Given the description of an element on the screen output the (x, y) to click on. 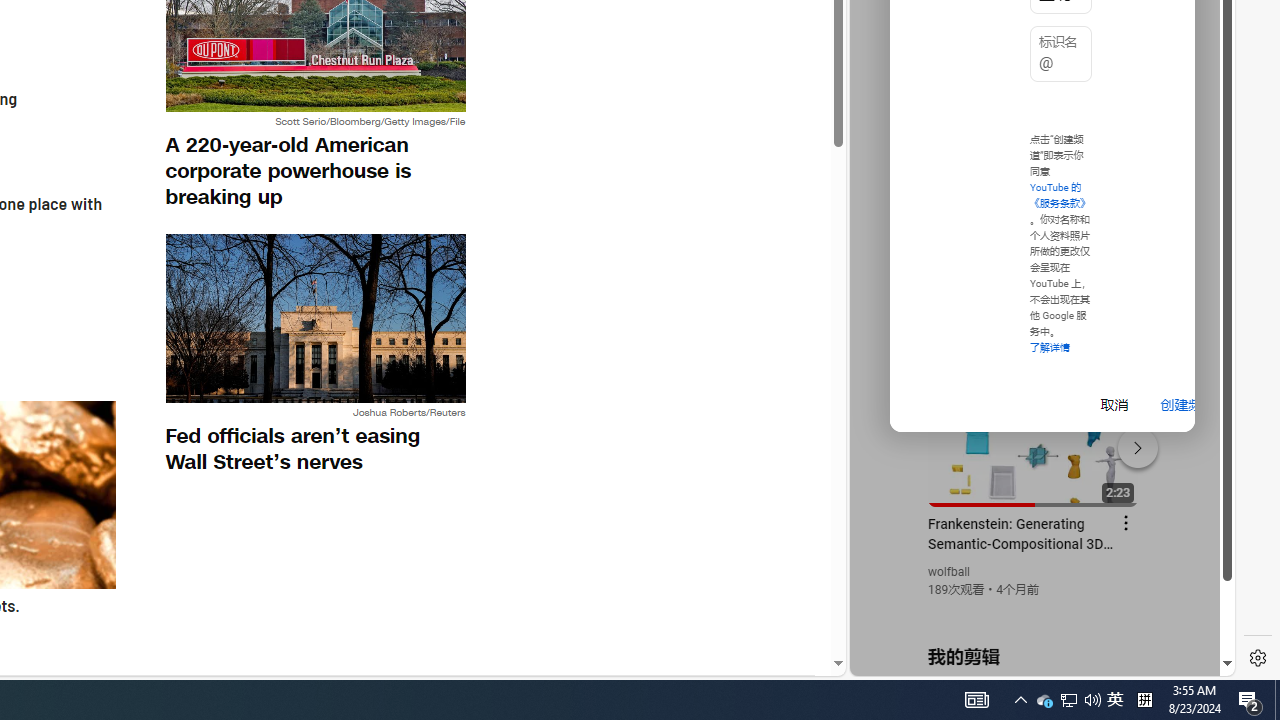
Settings (1258, 658)
US[ju] (917, 660)
Class: dict_pnIcon rms_img (1028, 660)
#you (1034, 439)
A 220-year-old American corporate powerhouse is breaking up (315, 170)
Click to scroll right (1196, 83)
